Given the description of an element on the screen output the (x, y) to click on. 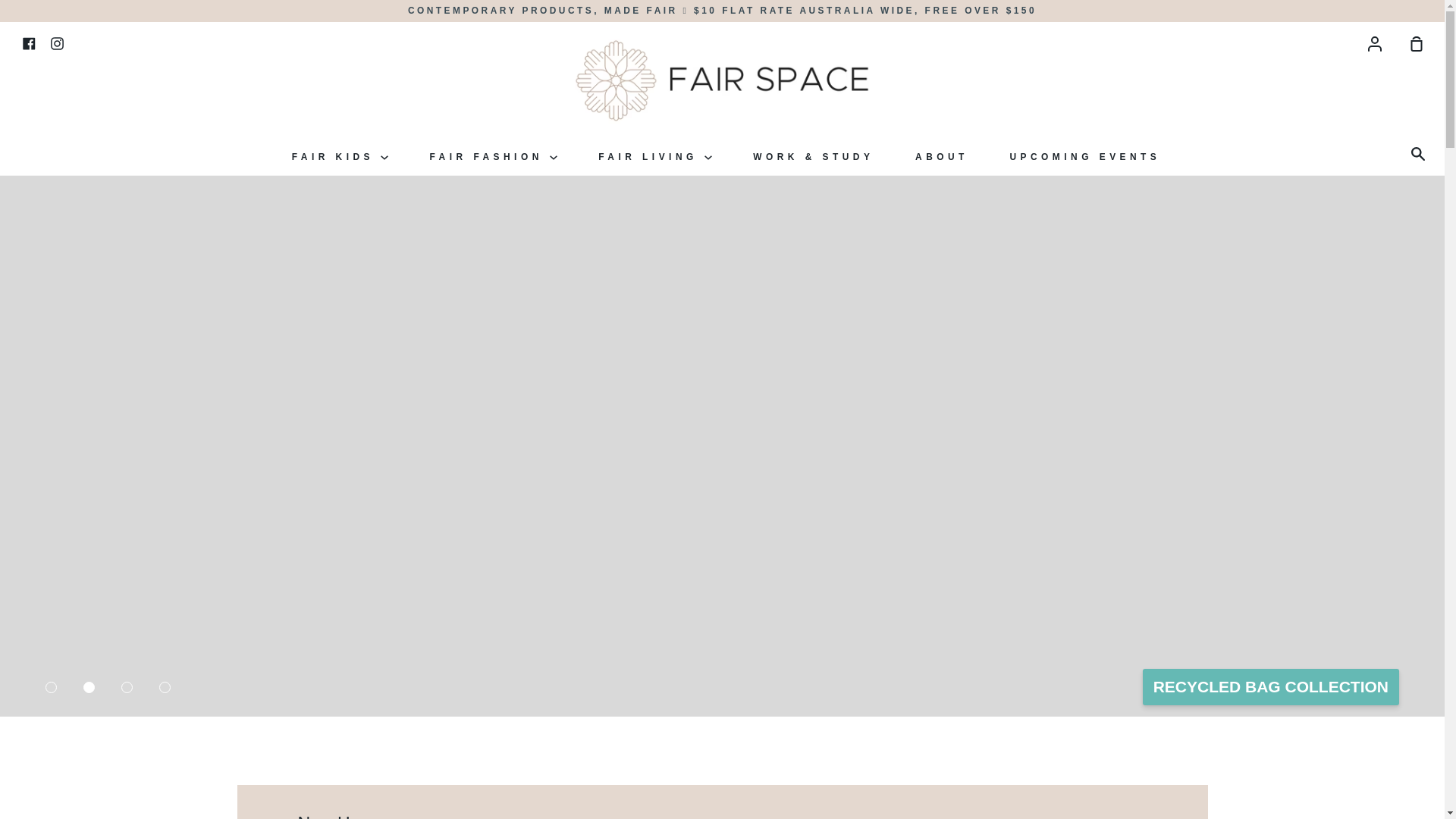
UPCOMING EVENTS (1084, 156)
Fair Space  on Facebook (28, 42)
FAIR LIVING (654, 156)
FAIR KIDS (339, 156)
Account (1374, 43)
Instagram (57, 42)
FAIR FASHION (493, 156)
Facebook (28, 42)
ABOUT (941, 156)
Fair Space  on Instagram (57, 42)
